Given the description of an element on the screen output the (x, y) to click on. 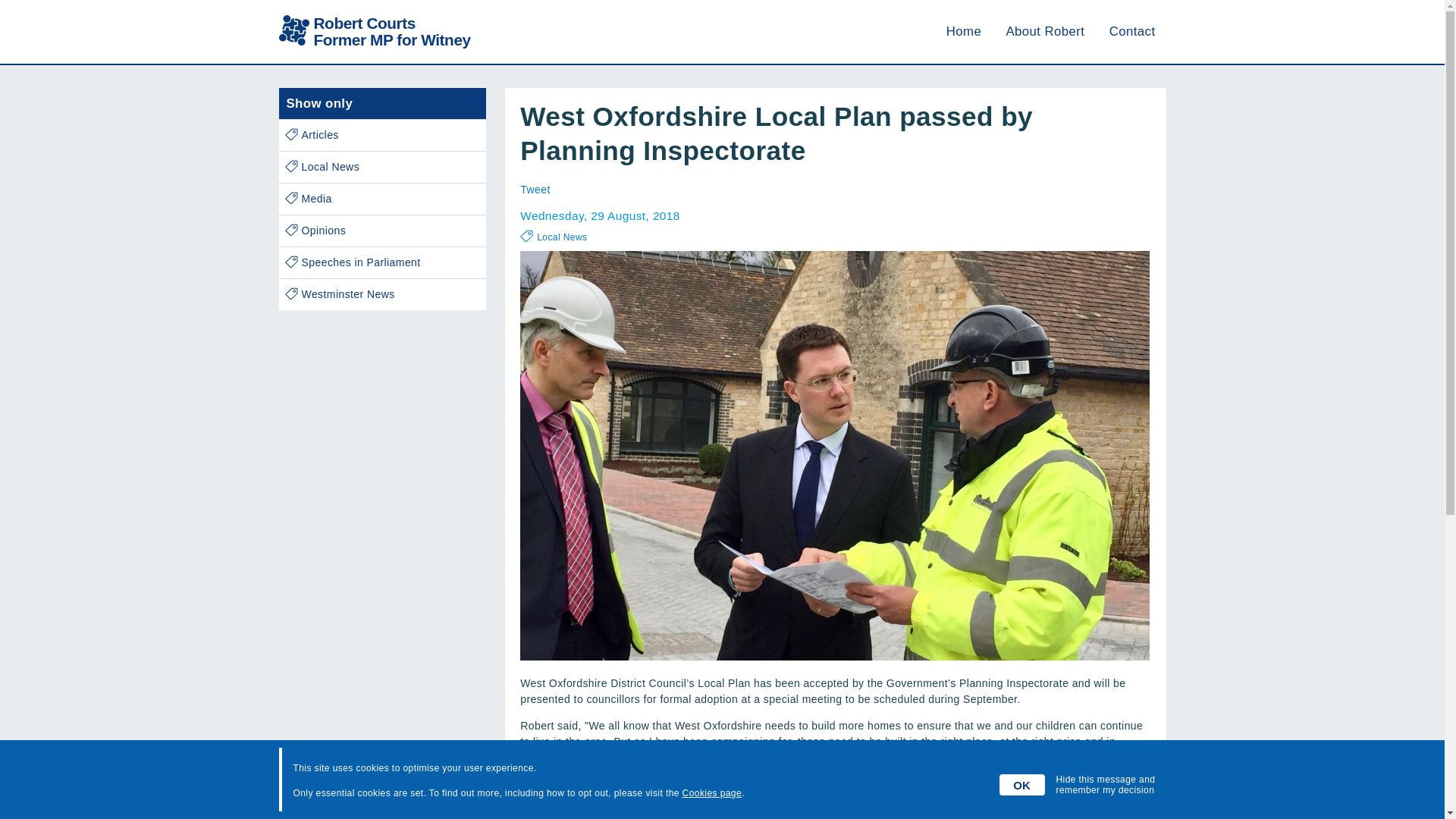
Speeches in Parliament (382, 262)
Media (382, 198)
Articles (374, 31)
Tweet (382, 134)
Cookies page (534, 189)
Westminster News (711, 792)
Local News (382, 294)
Contact (382, 166)
Skip to main content (1132, 31)
Local News (963, 31)
Opinions (561, 236)
OK (382, 230)
About Robert (1021, 784)
